Given the description of an element on the screen output the (x, y) to click on. 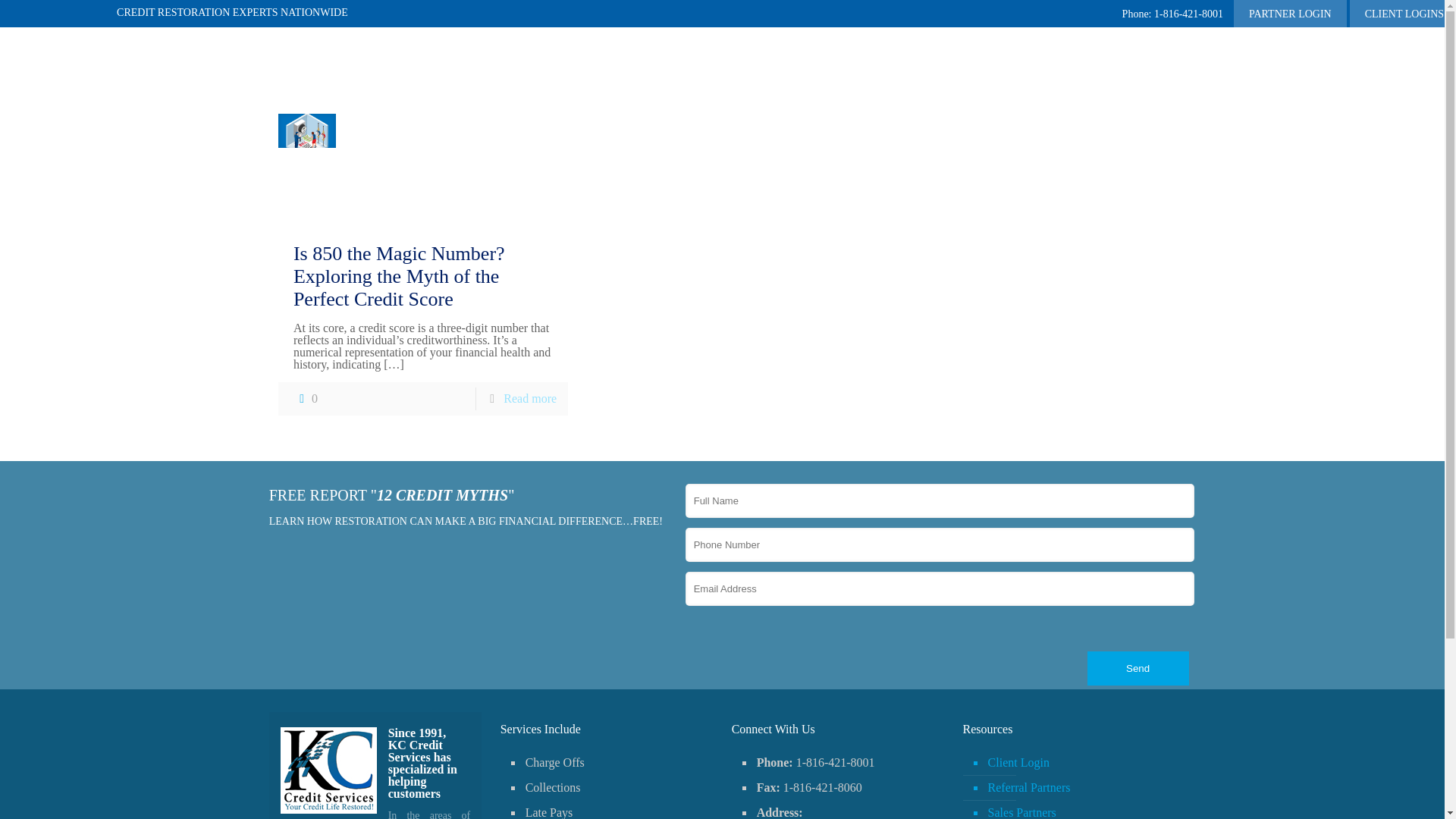
Send (1138, 668)
Send (1138, 668)
PARTNER LOGIN (1289, 15)
Read more (529, 398)
Sales Partners (1077, 809)
Referral Partners (1077, 787)
Client Login (1077, 763)
1-816-421-8001 (1172, 17)
0 (305, 398)
